Given the description of an element on the screen output the (x, y) to click on. 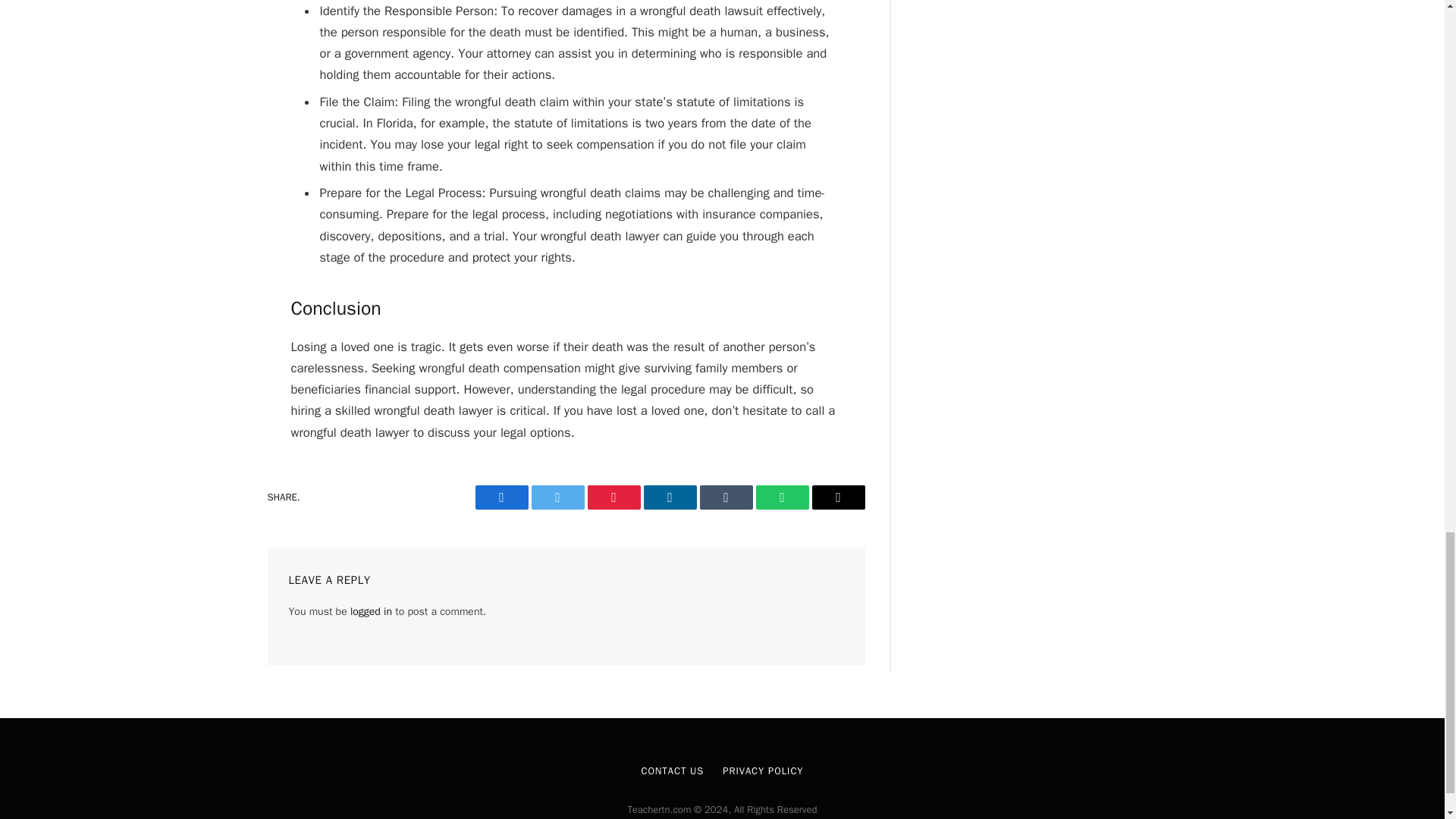
Twitter (557, 497)
Facebook (500, 497)
Pinterest (613, 497)
